Given the description of an element on the screen output the (x, y) to click on. 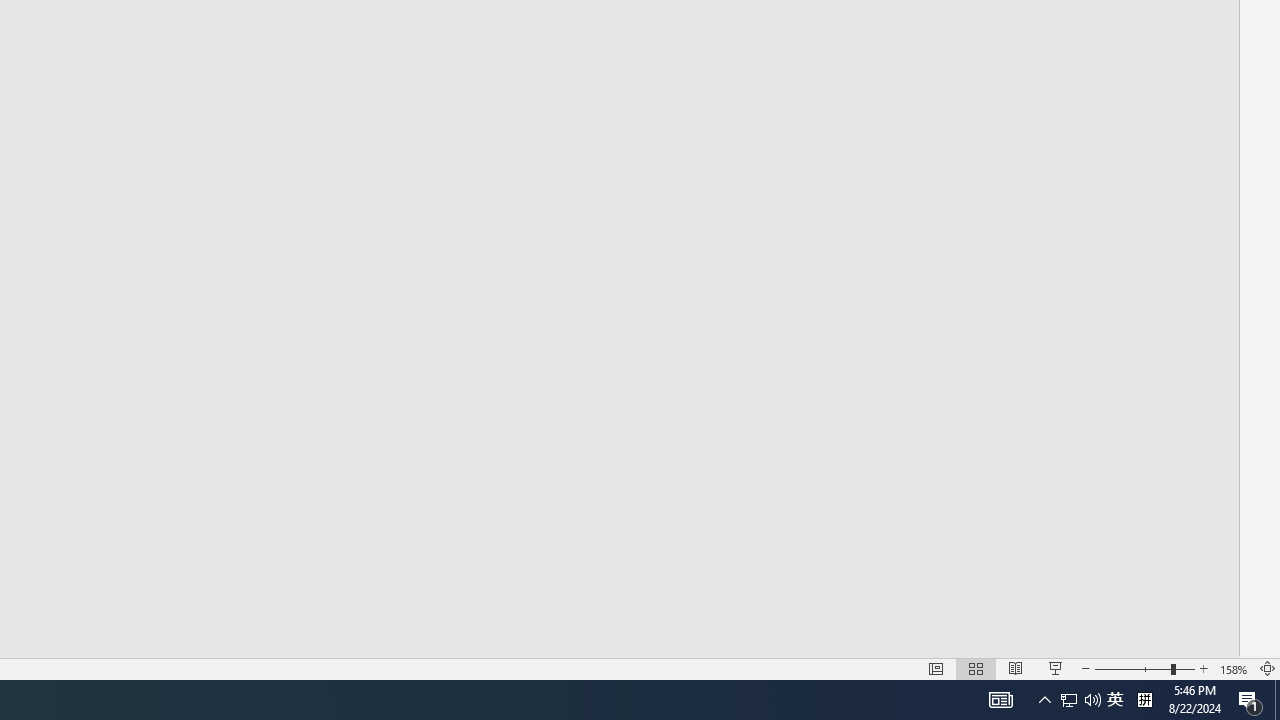
Zoom 158% (1234, 668)
